Given the description of an element on the screen output the (x, y) to click on. 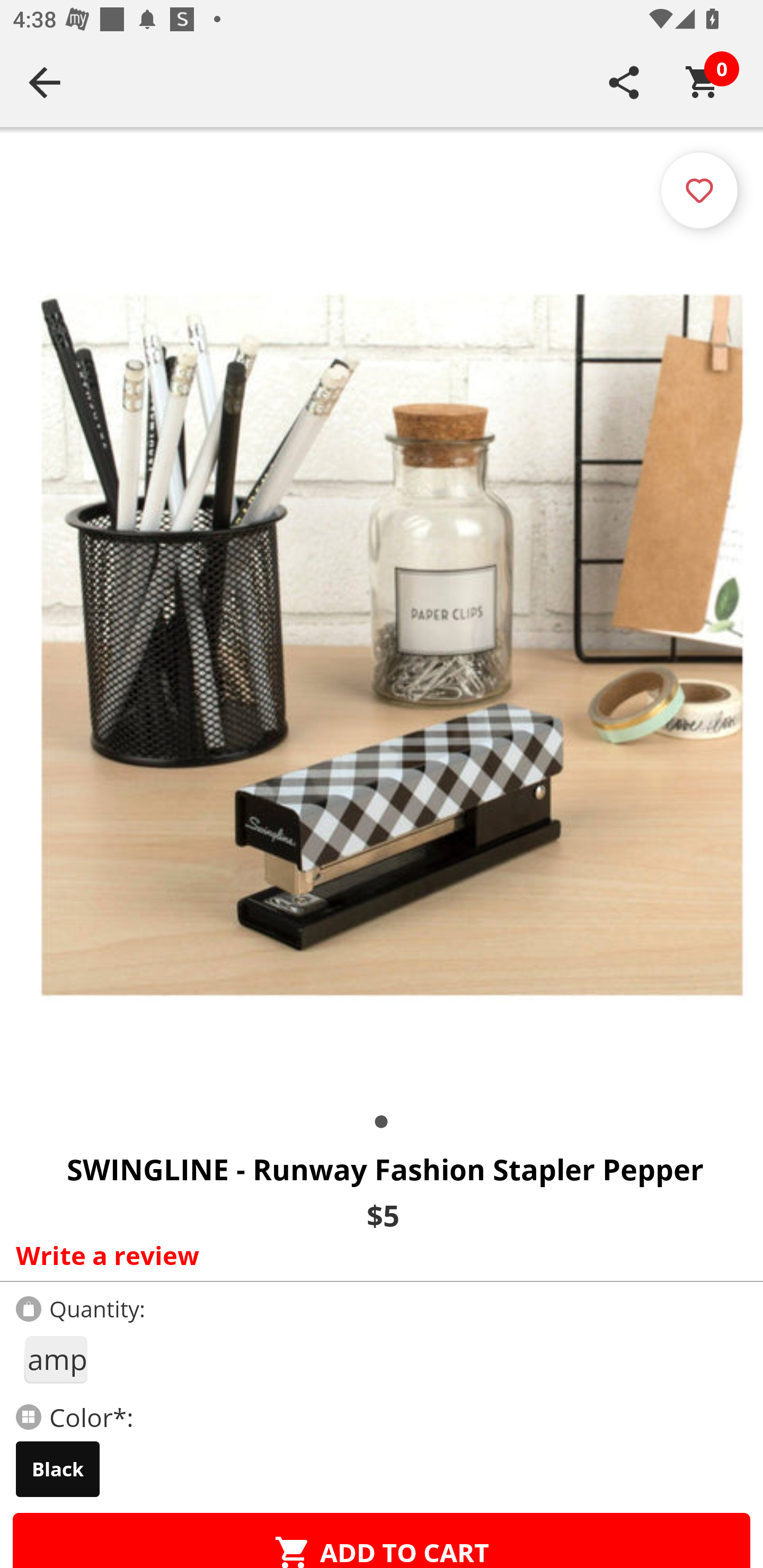
Navigate up (44, 82)
SHARE (623, 82)
Cart (703, 81)
Write a review (377, 1255)
1lamp (55, 1358)
Black (57, 1468)
ADD TO CART (381, 1540)
